Given the description of an element on the screen output the (x, y) to click on. 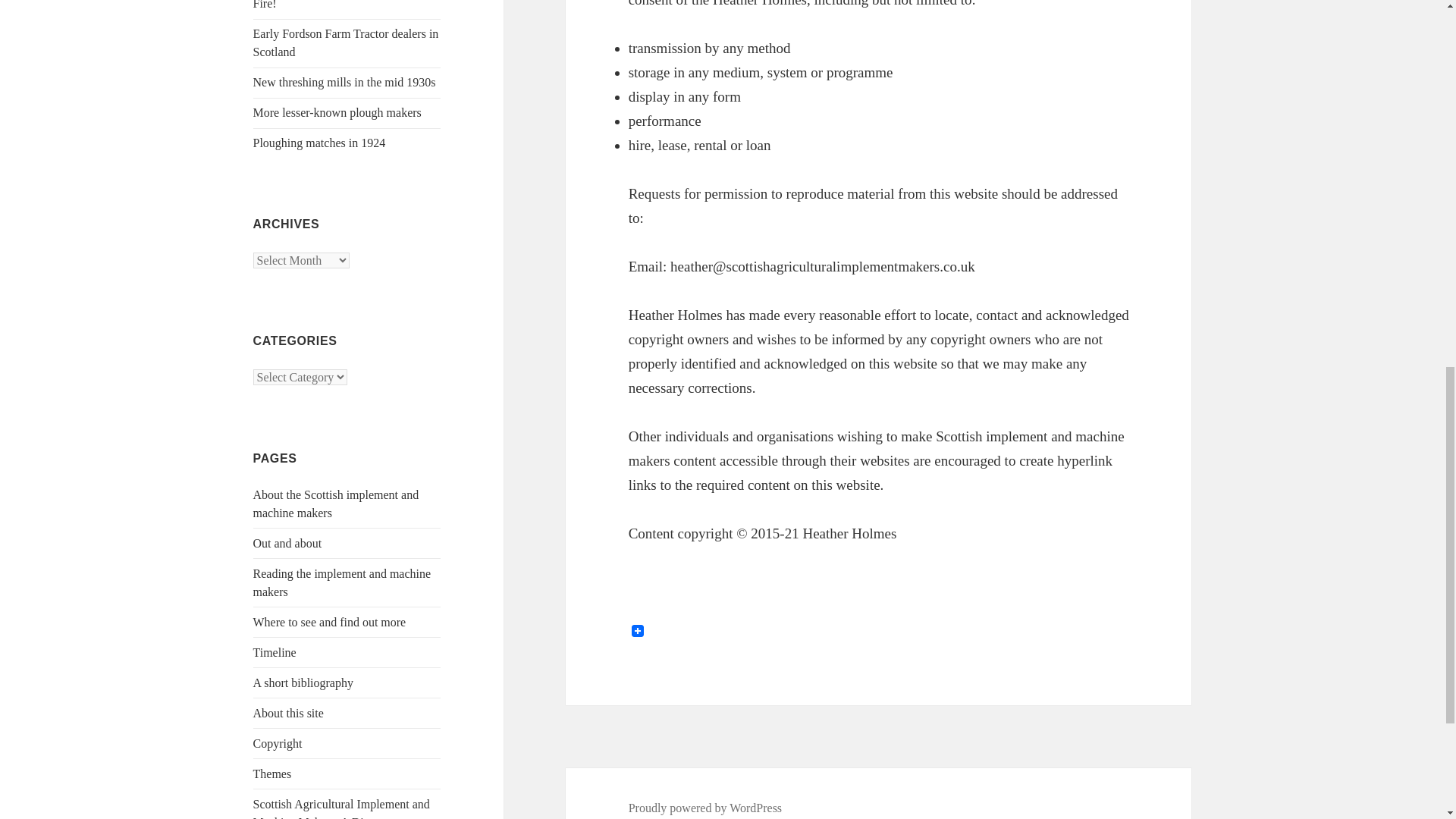
Themes (272, 773)
Where to see and find out more (329, 621)
Timeline (275, 652)
Early Fordson Farm Tractor dealers in Scotland (346, 42)
Reading the implement and machine makers (341, 582)
New threshing mills in the mid 1930s (344, 82)
Proudly powered by WordPress (704, 807)
About the Scottish implement and machine makers (336, 503)
About this site (288, 712)
Ploughing matches in 1924 (319, 142)
Out and about (287, 543)
Copyright (277, 743)
Fire! (264, 4)
More lesser-known plough makers (337, 112)
